Given the description of an element on the screen output the (x, y) to click on. 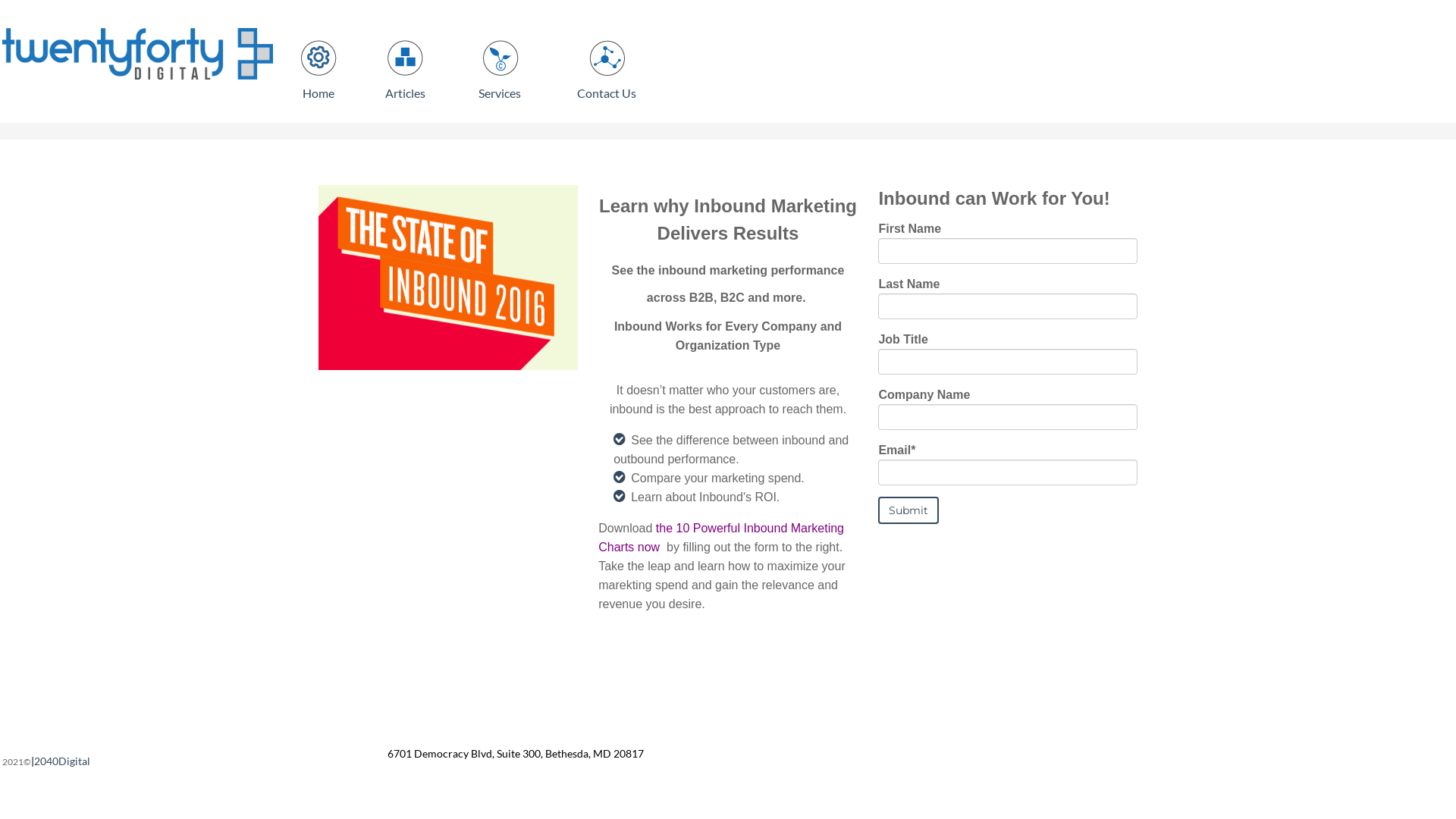
Services Element type: text (499, 92)
Articles Element type: text (405, 92)
Home Element type: text (318, 92)
StateofInboundMarketing.png Element type: hover (447, 277)
Contact Us Element type: text (606, 92)
2040Digital Element type: text (62, 760)
Submit Element type: text (908, 510)
